Given the description of an element on the screen output the (x, y) to click on. 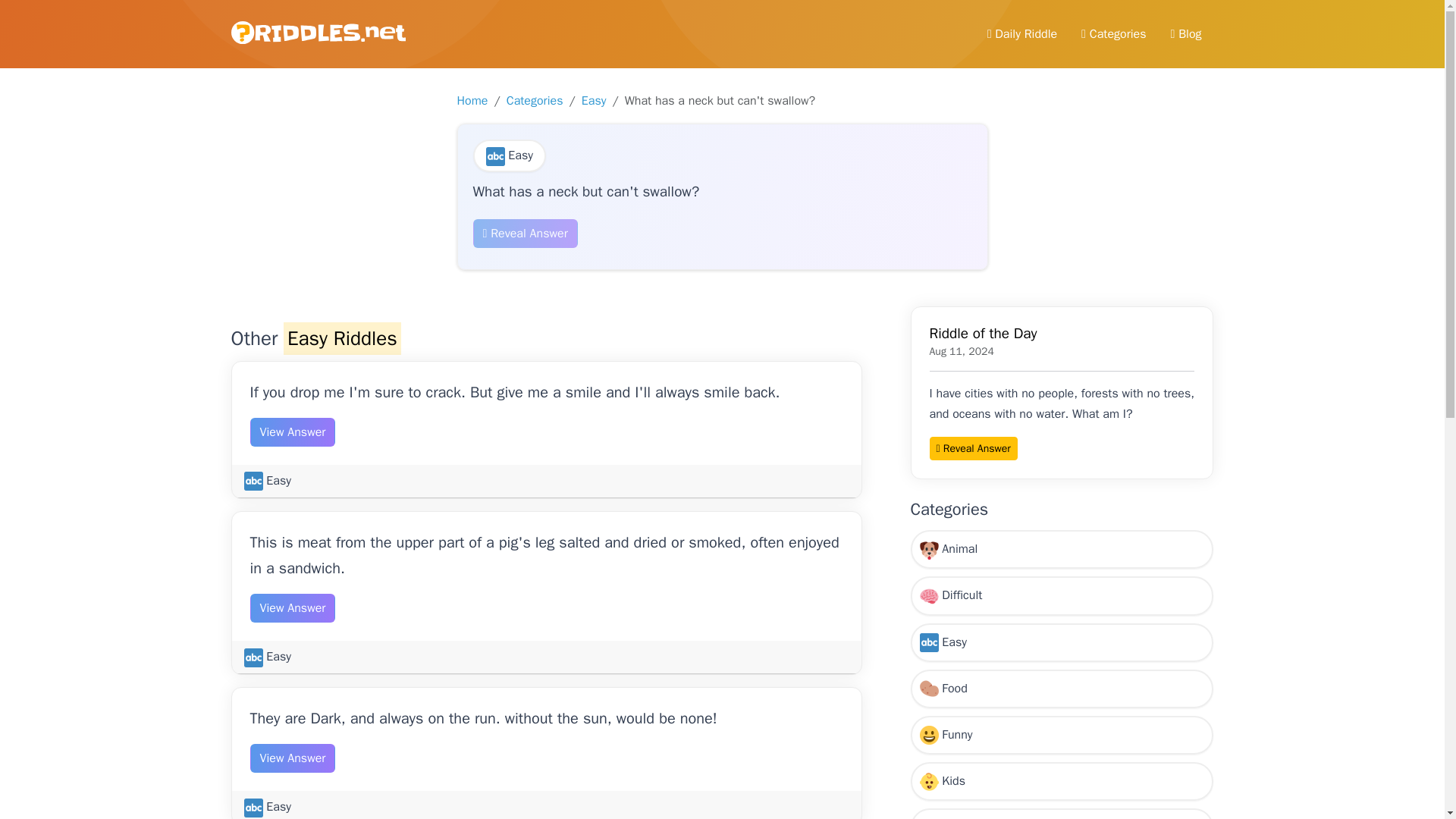
Funny (1061, 734)
Easy (267, 806)
View Answer (293, 431)
Easy (1061, 642)
Easy (267, 480)
View Answer (293, 758)
Easy (509, 155)
Easy (267, 656)
Easy (593, 100)
